Given the description of an element on the screen output the (x, y) to click on. 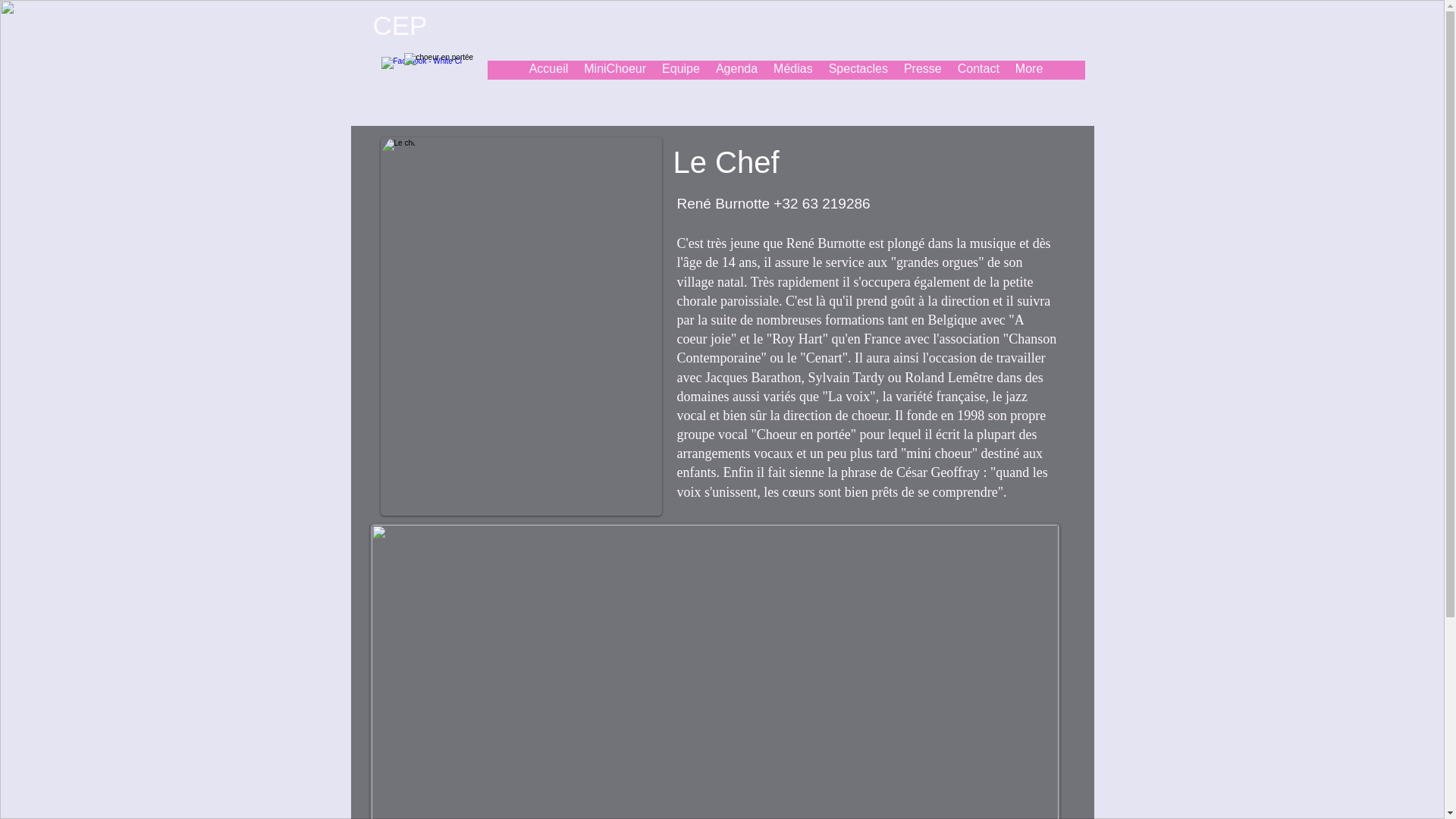
MiniChoeur Element type: text (614, 69)
Agenda Element type: text (736, 69)
Presse Element type: text (922, 69)
Equipe Element type: text (680, 69)
Contact Element type: text (978, 69)
Spectacles Element type: text (857, 69)
Accueil Element type: text (548, 69)
